Given the description of an element on the screen output the (x, y) to click on. 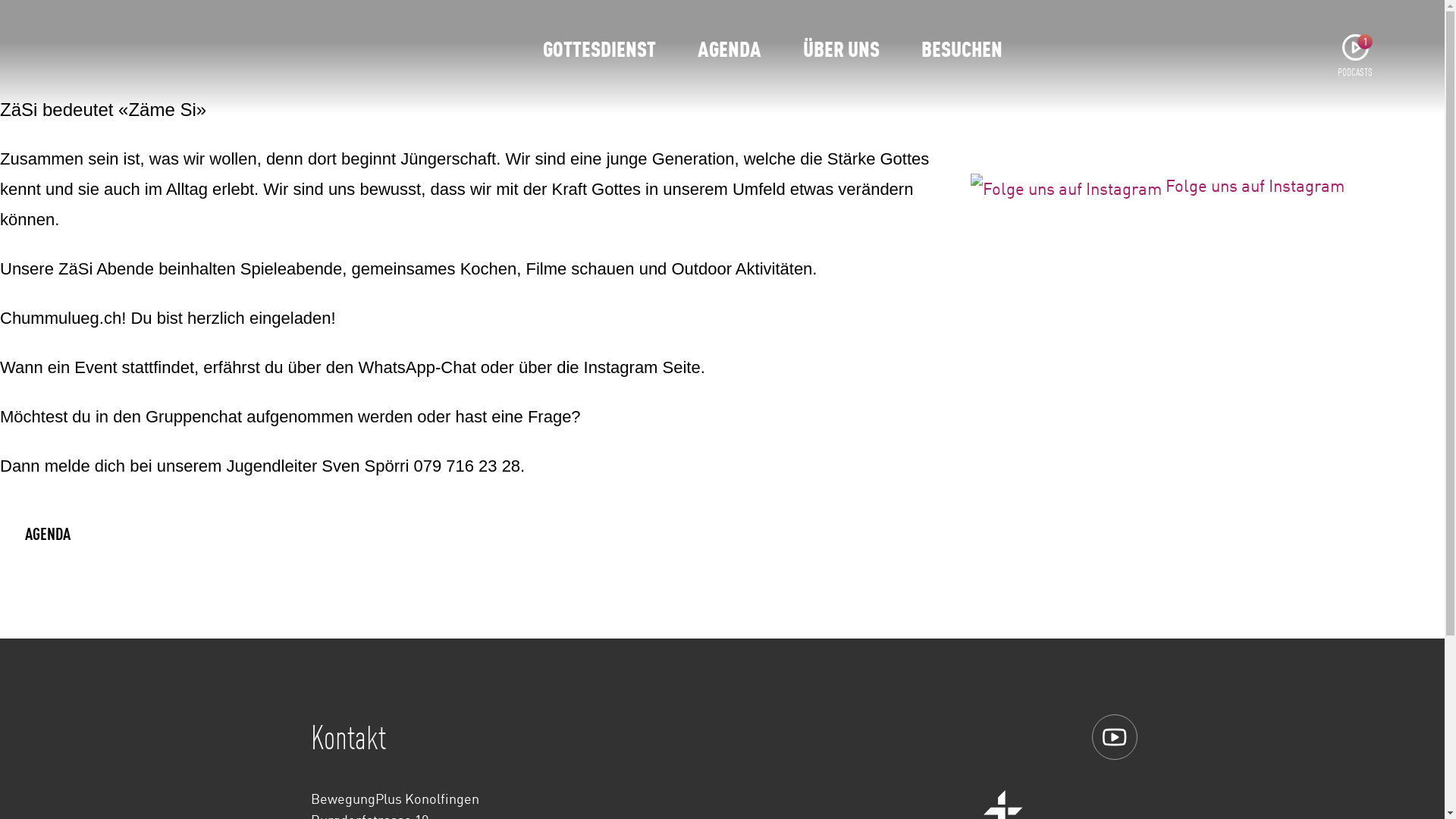
Folge uns auf Instagram Element type: text (1157, 184)
Folge uns auf Instagram Element type: hover (1065, 187)
